Given the description of an element on the screen output the (x, y) to click on. 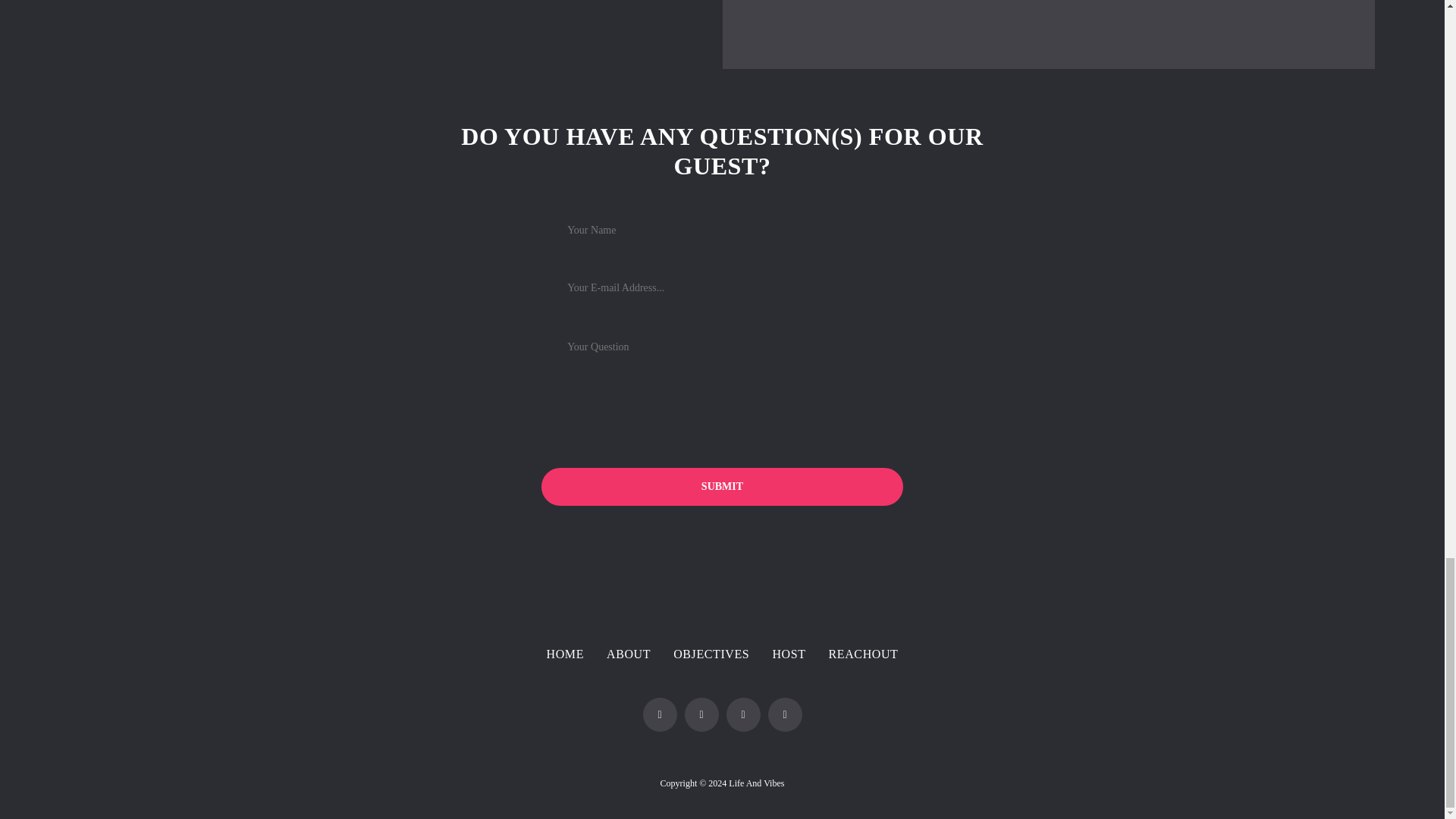
HOST (788, 653)
ABOUT (628, 653)
HOME (566, 653)
SUBMIT (721, 486)
OBJECTIVES (710, 653)
REACHOUT (863, 653)
